Given the description of an element on the screen output the (x, y) to click on. 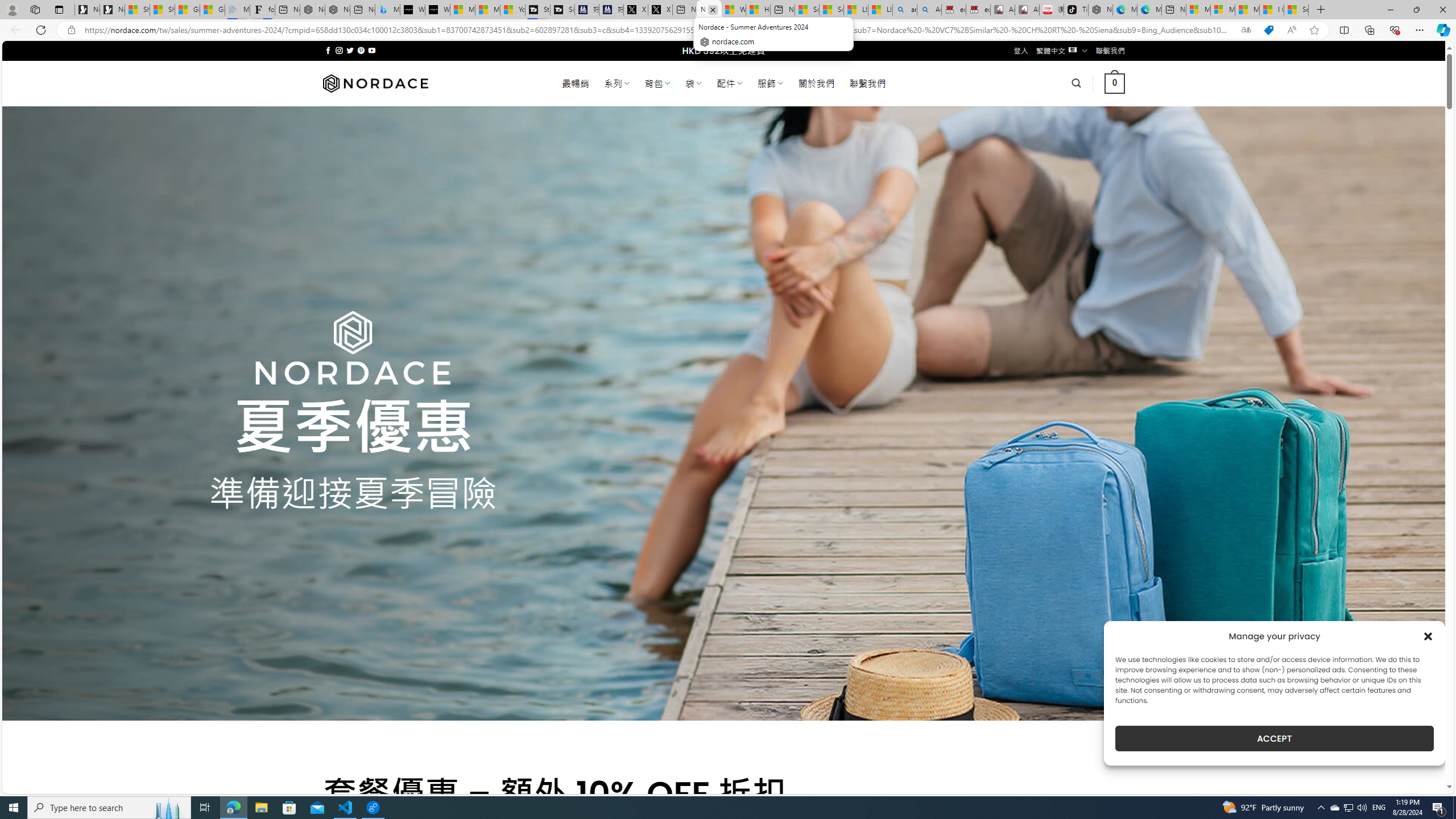
 0  (1115, 83)
I Gained 20 Pounds of Muscle in 30 Days! | Watch (1271, 9)
TikTok (1075, 9)
ACCEPT (1274, 738)
